Given the description of an element on the screen output the (x, y) to click on. 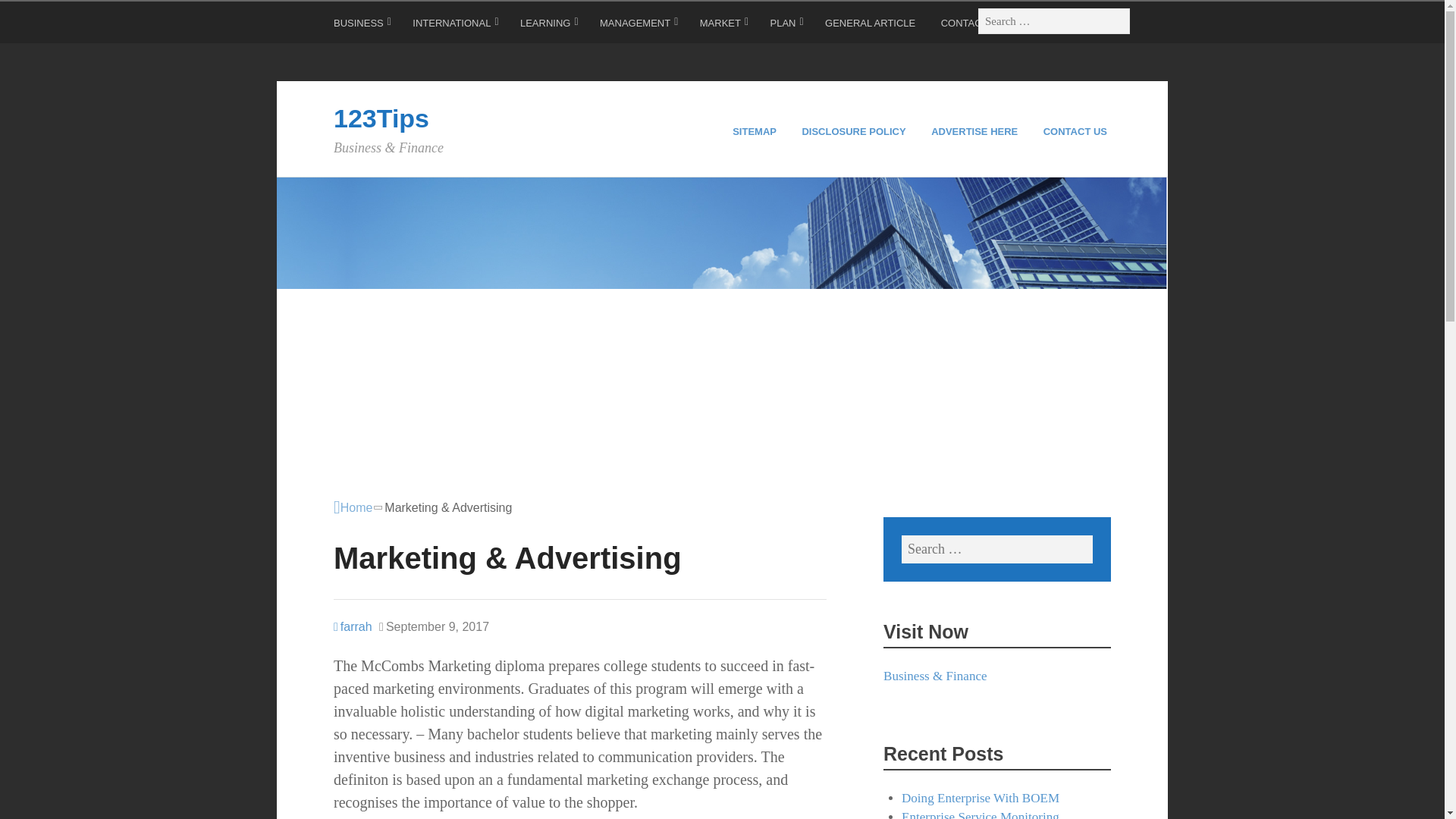
LEARNING (548, 26)
GENERAL ARTICLE (871, 26)
123Tips (381, 118)
INTERNATIONAL (454, 26)
DISCLOSURE POLICY (855, 131)
CONTACT US (1076, 131)
BUSINESS (362, 26)
ADVERTISE HERE (976, 131)
CONTACT US (973, 26)
Home (352, 507)
